Given the description of an element on the screen output the (x, y) to click on. 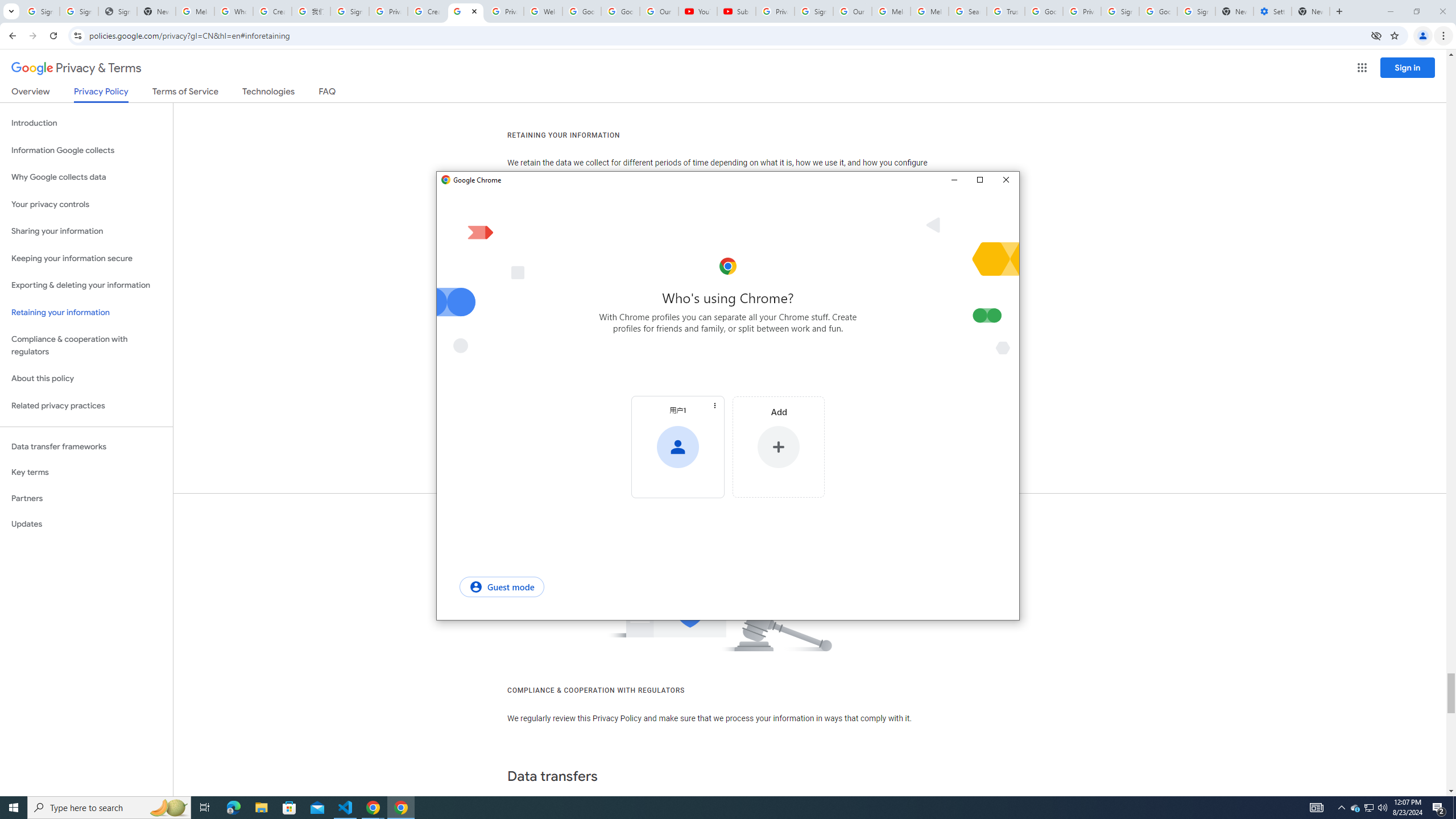
Trusted Information and Content - Google Safety Center (1005, 11)
Why Google collects data (86, 176)
Sign in - Google Accounts (1196, 11)
Exporting & deleting your information (86, 284)
Sign in - Google Accounts (349, 11)
Keeping your information secure (86, 258)
Action Center, 2 new notifications (1439, 807)
Microsoft Store (289, 807)
